Given the description of an element on the screen output the (x, y) to click on. 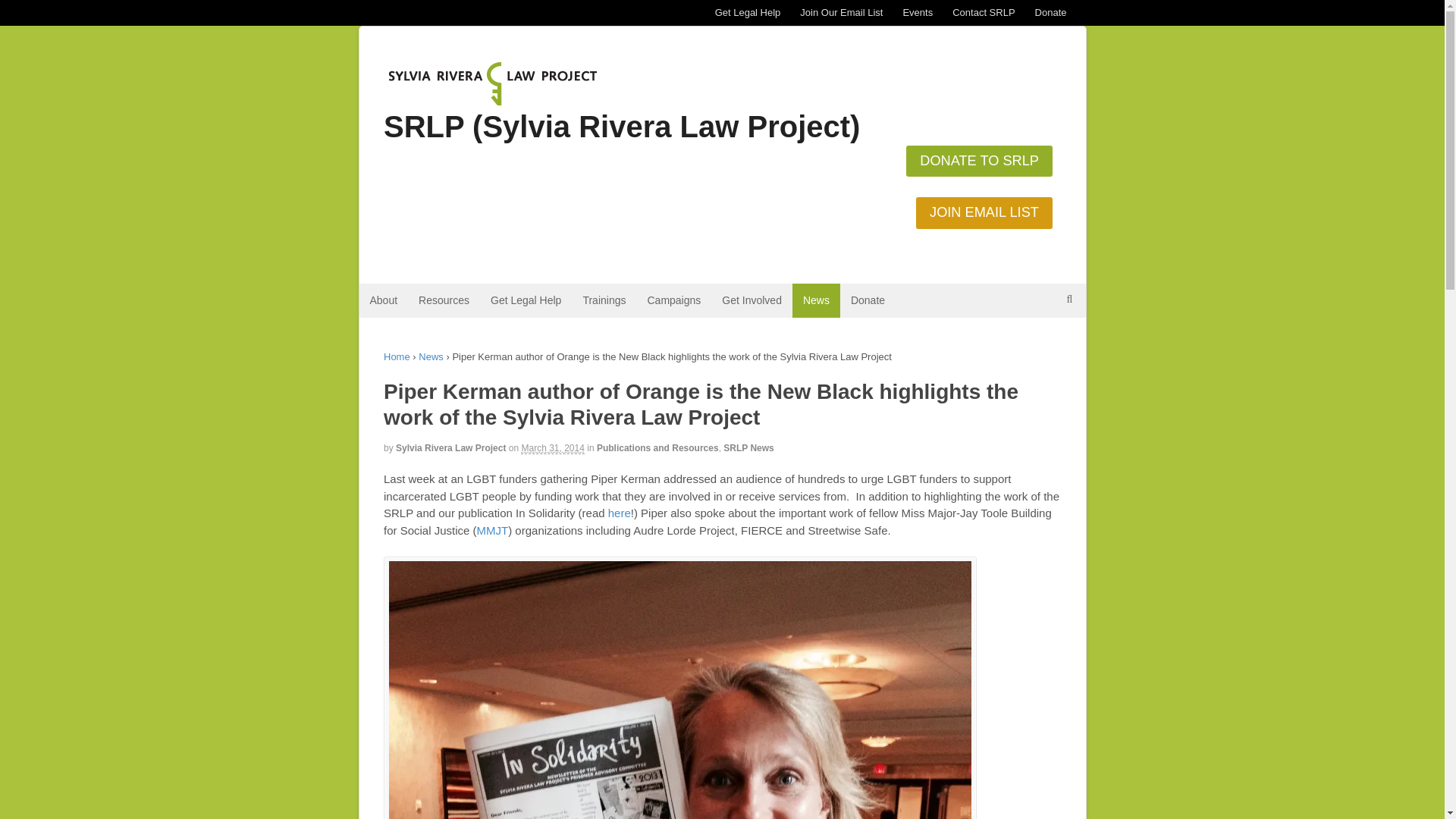
Resources (443, 300)
Donate (1051, 12)
Posts by Sylvia Rivera Law Project (450, 448)
Get Legal Help (526, 300)
2014-03-31T13:40:36-0400 (552, 448)
News (431, 356)
About (384, 300)
Events (917, 12)
Campaigns (673, 300)
View all items in SRLP News (748, 448)
